Given the description of an element on the screen output the (x, y) to click on. 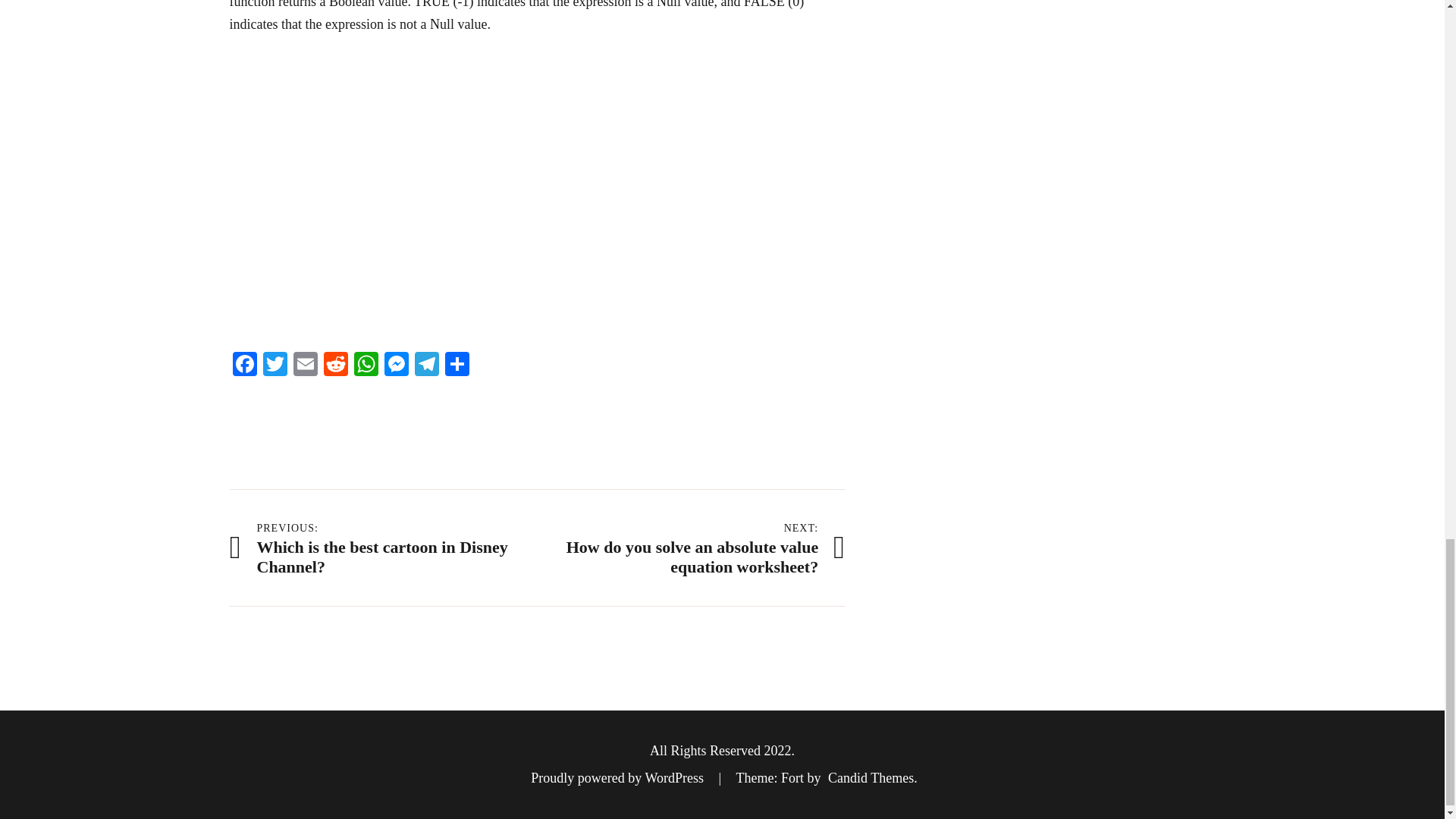
Reddit (335, 366)
Telegram (425, 366)
Telegram (425, 366)
Email (304, 366)
Messenger (395, 366)
Email (304, 366)
Share (456, 366)
Twitter (274, 366)
